Given the description of an element on the screen output the (x, y) to click on. 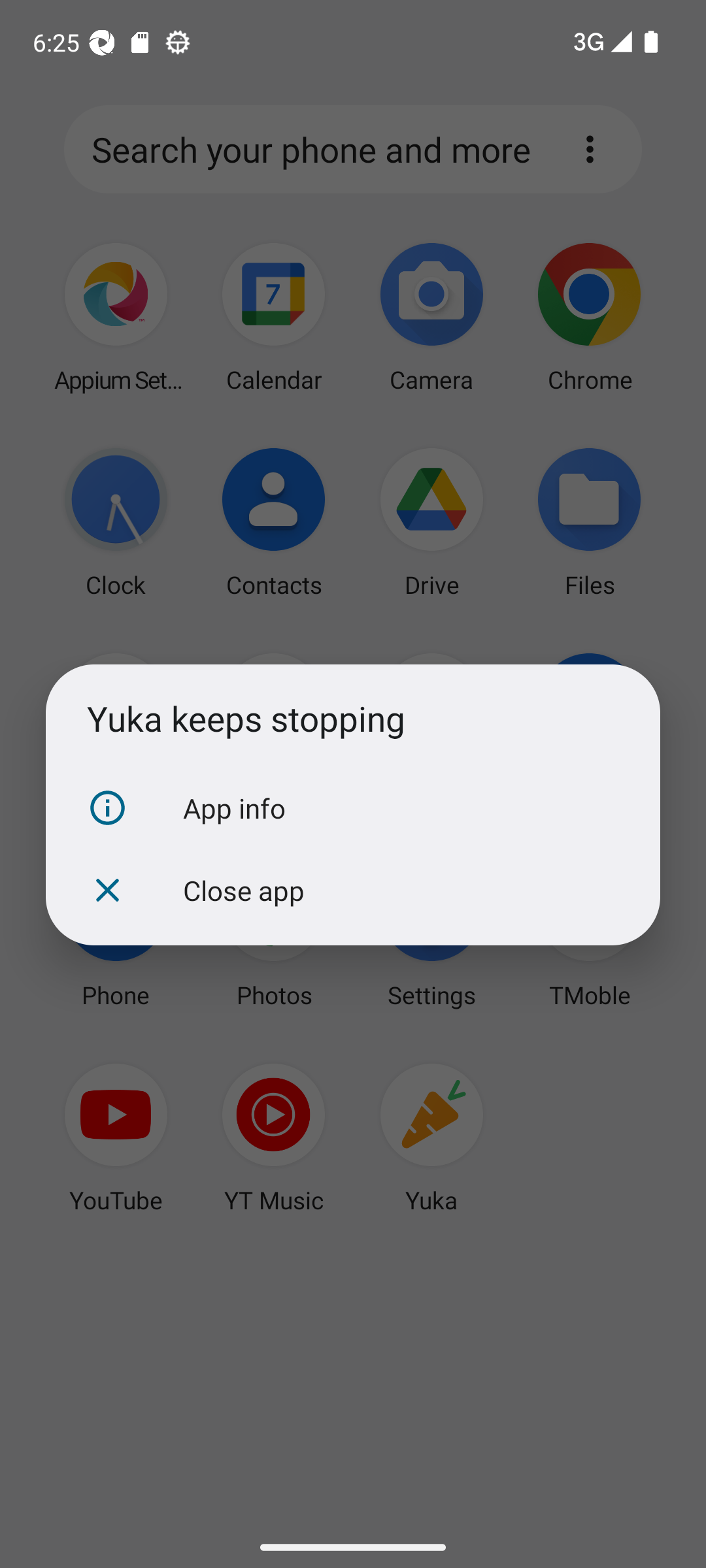
App info (352, 807)
Close app (352, 890)
